Given the description of an element on the screen output the (x, y) to click on. 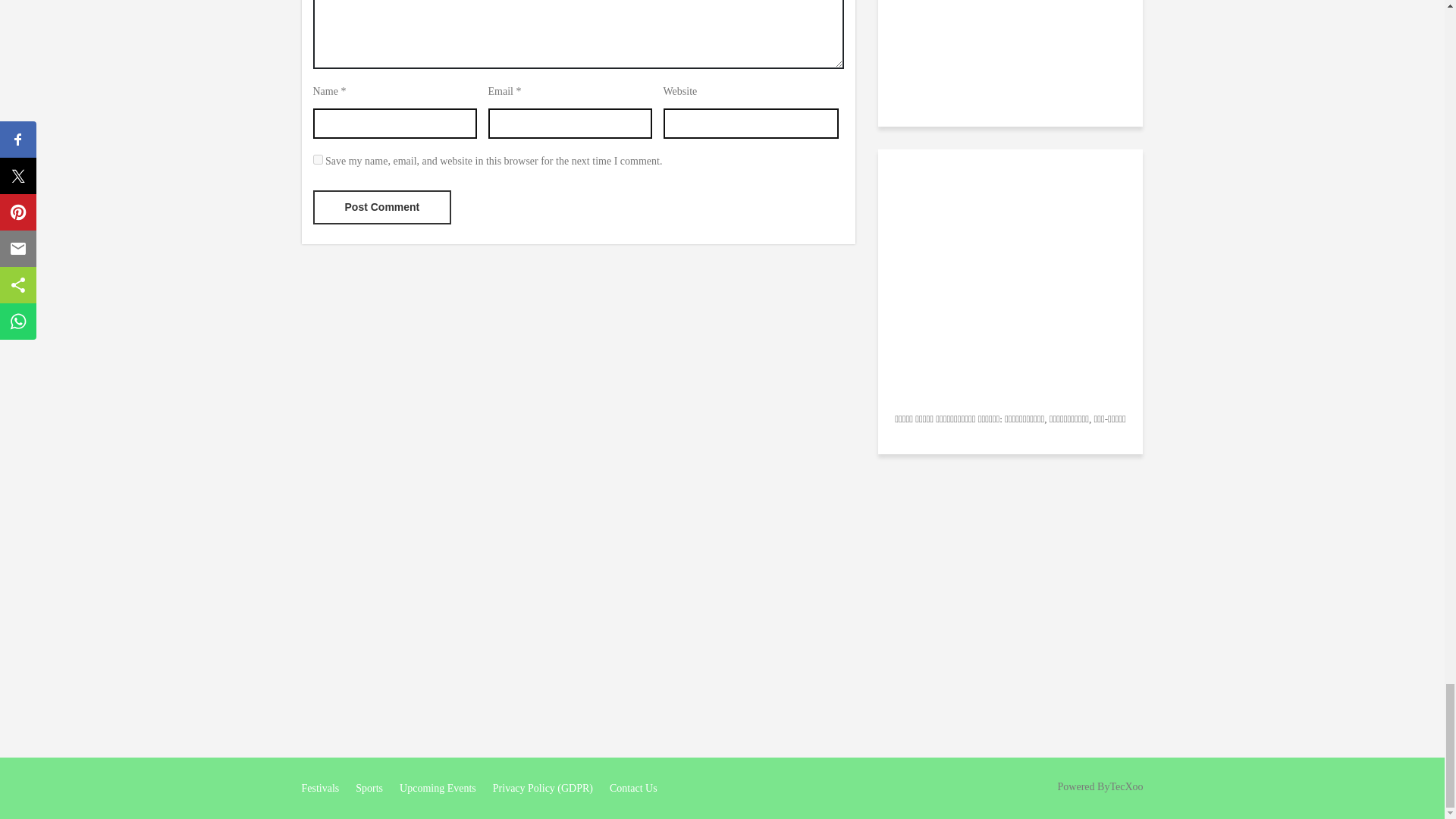
yes (317, 159)
Post Comment (382, 207)
Post Comment (382, 207)
